Given the description of an element on the screen output the (x, y) to click on. 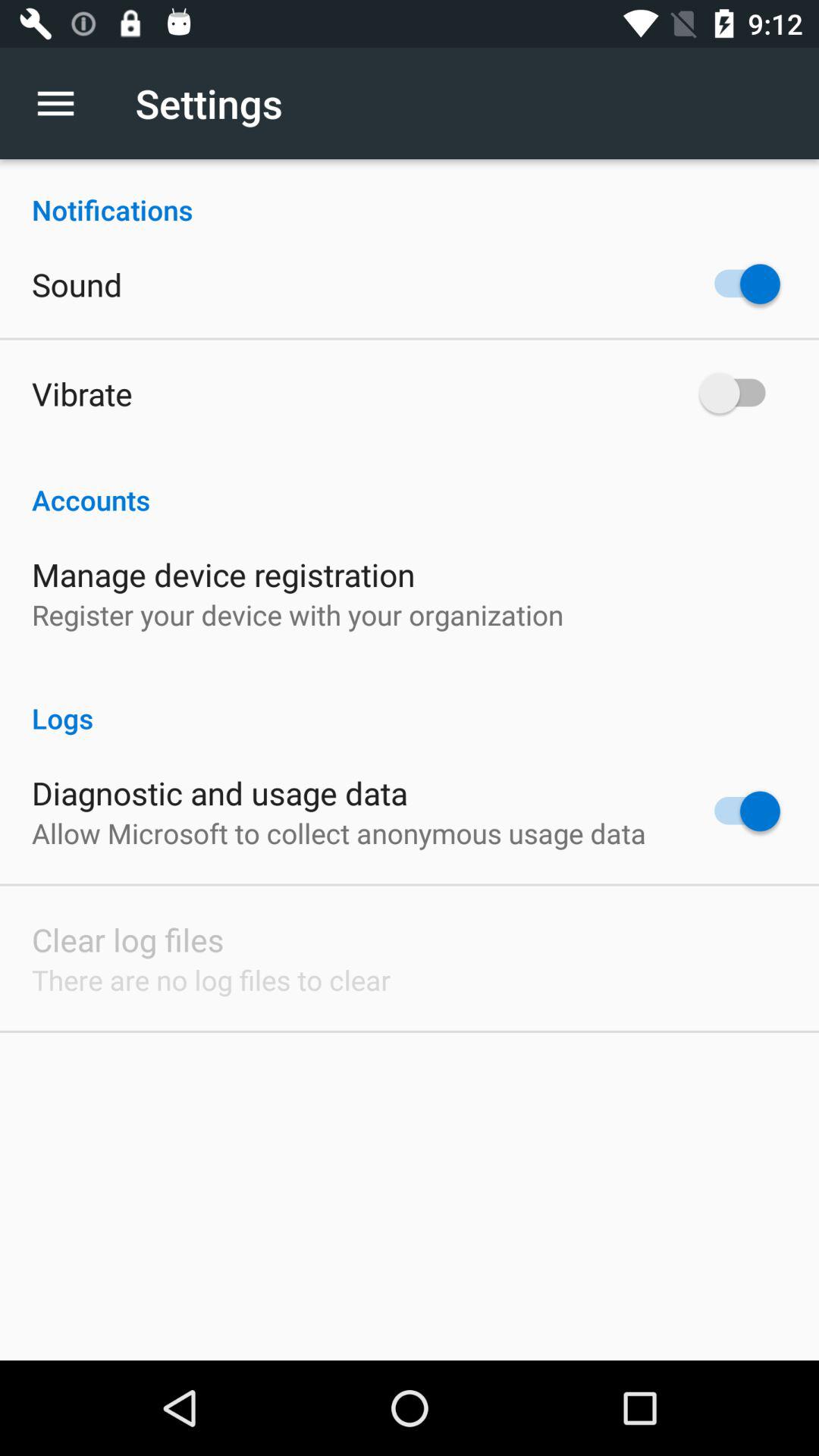
tap the there are no at the bottom left corner (210, 979)
